Given the description of an element on the screen output the (x, y) to click on. 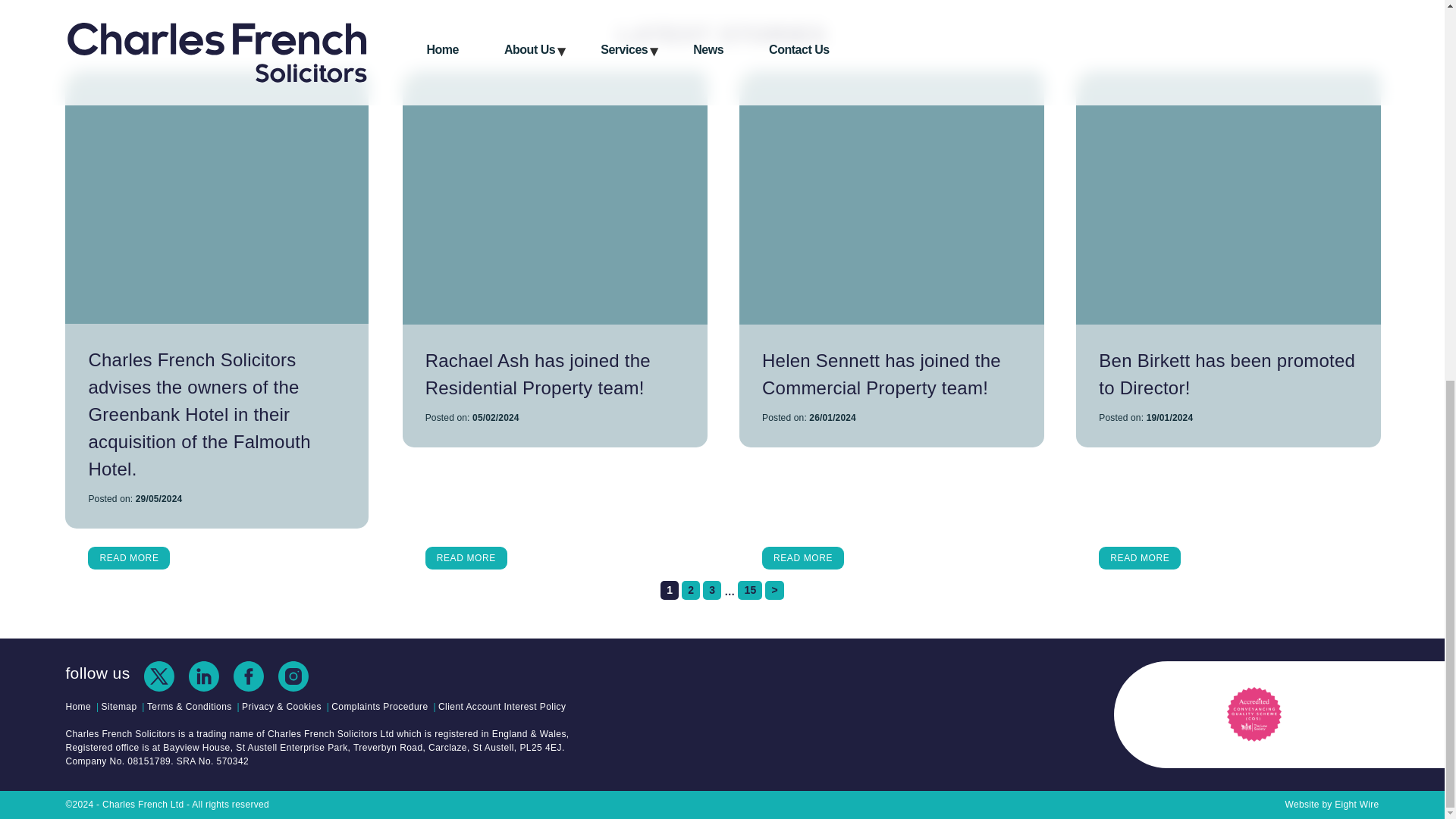
Website by Eight Wire (1331, 804)
15 (749, 589)
Sitemap (118, 706)
3 (711, 589)
READ MORE (802, 558)
Client Account Interest Policy (502, 706)
Complaints Procedure (379, 706)
READ MORE (1139, 558)
READ MORE (128, 558)
READ MORE (465, 558)
